Given the description of an element on the screen output the (x, y) to click on. 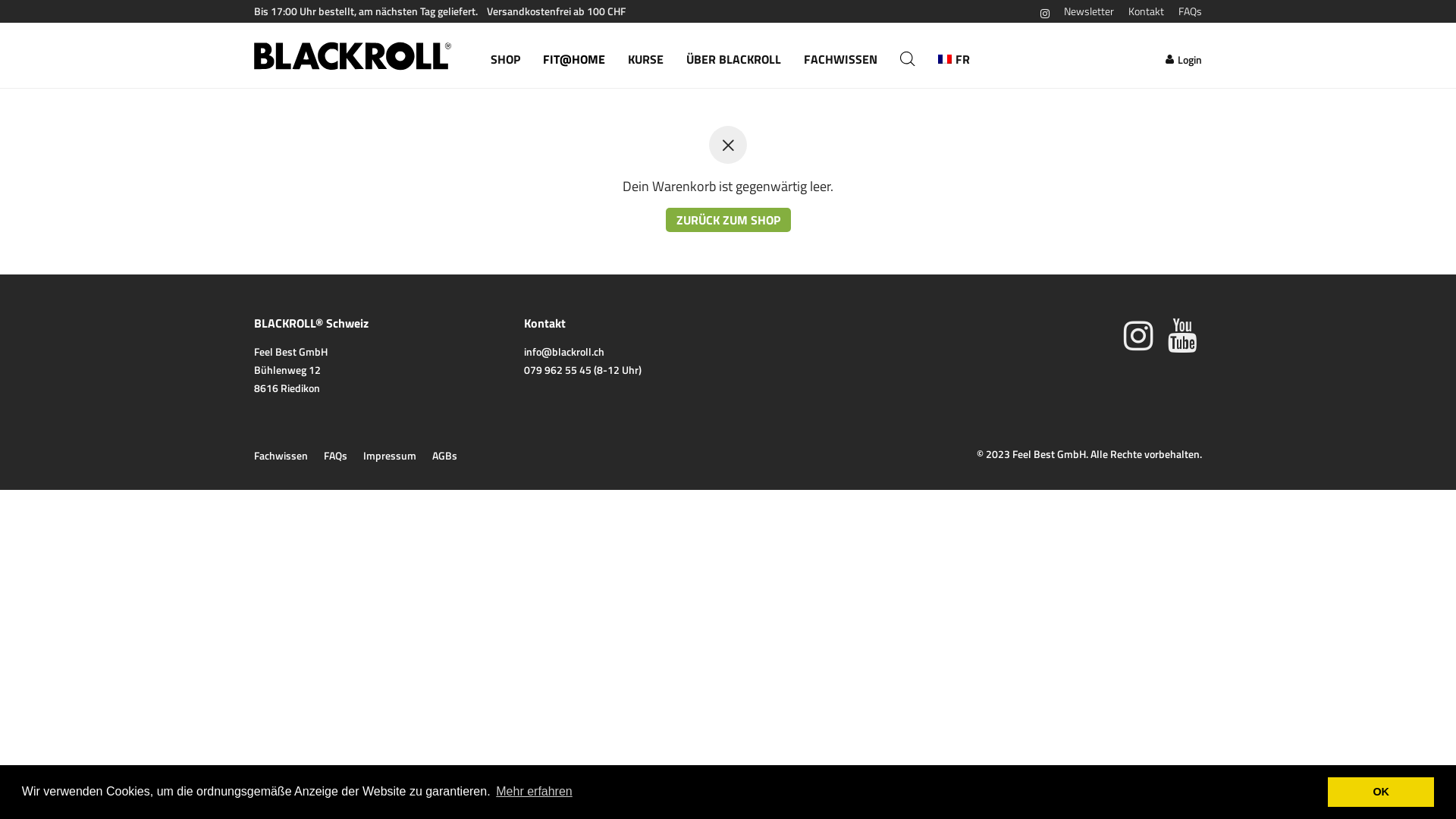
Login Element type: text (1183, 55)
Newsletter Element type: text (1088, 11)
KURSE Element type: text (645, 55)
Fachwissen Element type: text (280, 455)
OK Element type: text (1380, 791)
SHOP Element type: text (505, 55)
Kontakt Element type: text (1145, 11)
FR Element type: text (953, 55)
Instagram Element type: hover (1138, 334)
Impressum Element type: text (389, 455)
AGBs Element type: text (444, 455)
Mehr erfahren Element type: text (533, 791)
FAQs Element type: text (1185, 11)
FIT@HOME Element type: text (573, 55)
FAQs Element type: text (335, 455)
YouTube Element type: hover (1184, 334)
FACHWISSEN Element type: text (840, 55)
